Given the description of an element on the screen output the (x, y) to click on. 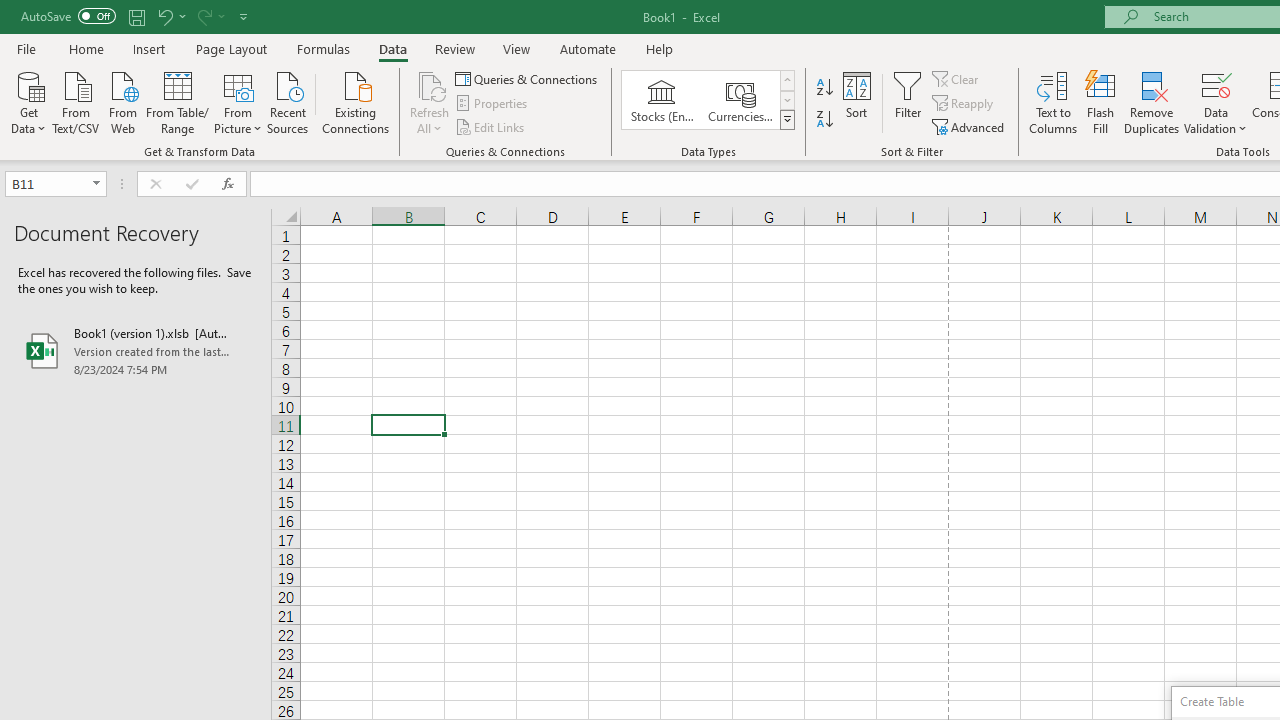
Name Box (56, 183)
Automate (588, 48)
Edit Links (491, 126)
Clear (957, 78)
Class: NetUIImage (787, 119)
Row Down (786, 100)
Formulas (323, 48)
Open (96, 183)
Home (86, 48)
Save (136, 15)
Row up (786, 79)
Book1 (version 1).xlsb  [AutoRecovered] (136, 350)
